Given the description of an element on the screen output the (x, y) to click on. 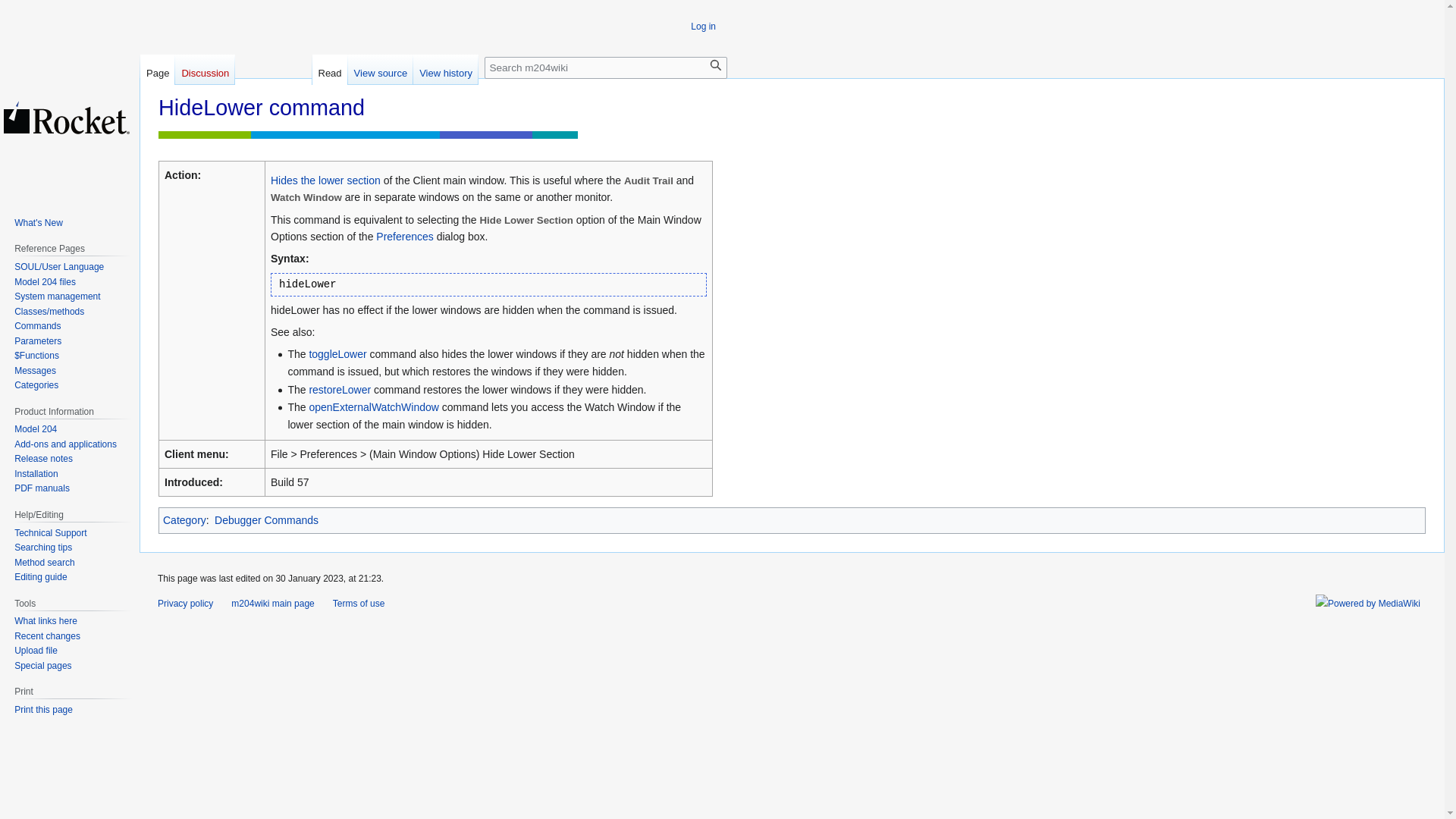
RestoreLower command (339, 389)
Search (715, 64)
Searching tips (42, 547)
Log in (703, 26)
PDF manuals (41, 488)
Search (715, 64)
Method search (44, 562)
ToggleLower command (337, 354)
Release notes (43, 458)
restoreLower (339, 389)
Go (715, 64)
Search (715, 64)
Hides the lower section (325, 180)
Category (184, 520)
